Given the description of an element on the screen output the (x, y) to click on. 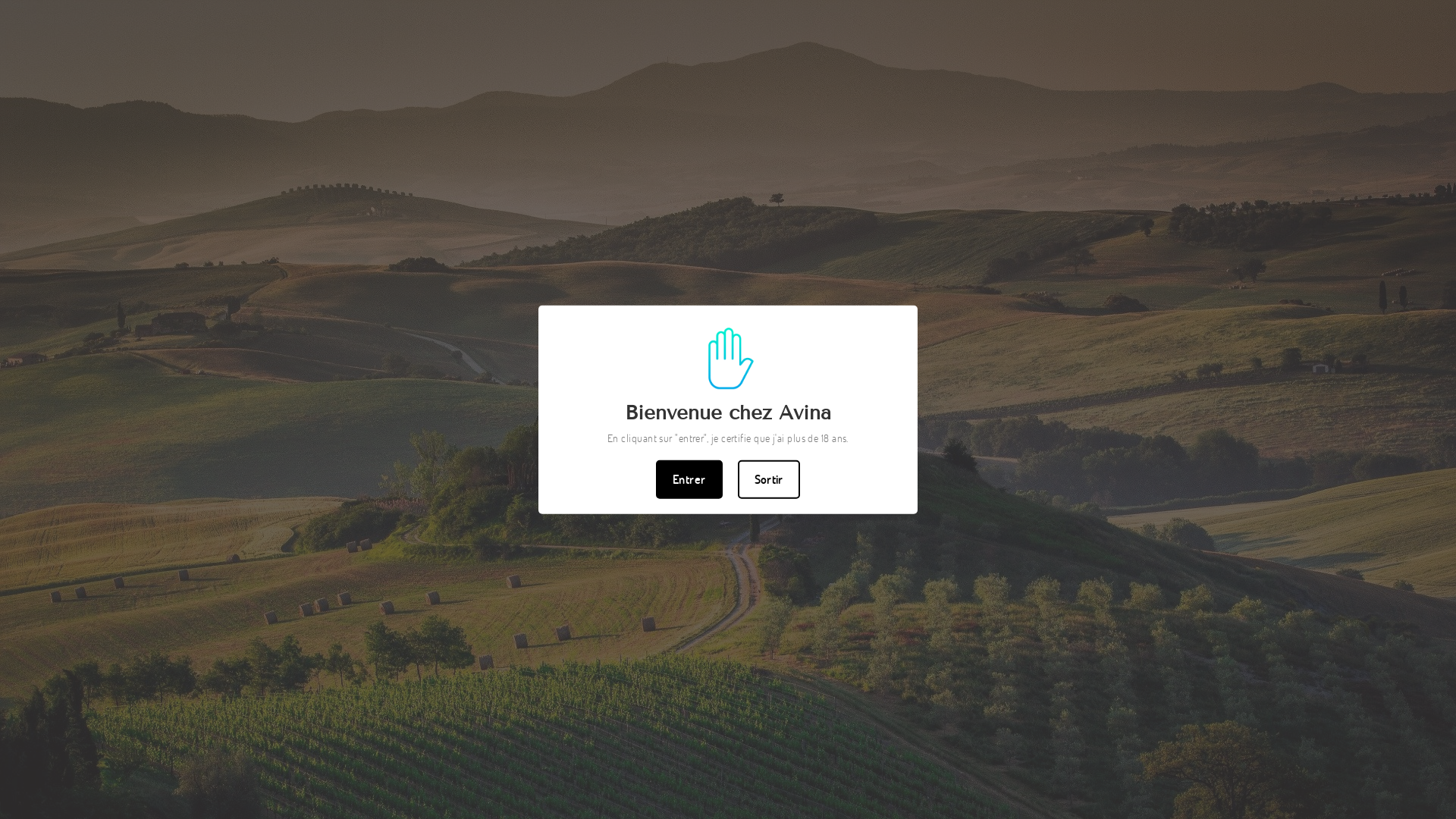
AJOUTER AU PANIER Element type: text (963, 580)
YouTube Element type: text (1236, 11)
ICON-SEARCH
RECHERCHER Element type: text (199, 79)
Afficher les informations de magasin Element type: text (982, 720)
ACHETER MAINTENANT Element type: text (963, 626)
Facebook Element type: text (1216, 11)
Entrer Element type: text (688, 479)
+ Element type: text (710, 490)
PANIER Element type: text (1255, 79)
ALTURE Element type: text (686, 217)
instagram
Instagram Element type: text (1197, 11)
ACCOUNT
SE CONNECTER Element type: text (1216, 79)
LinkedIn Element type: text (1256, 11)
Sortir Element type: text (768, 479)
